Given the description of an element on the screen output the (x, y) to click on. 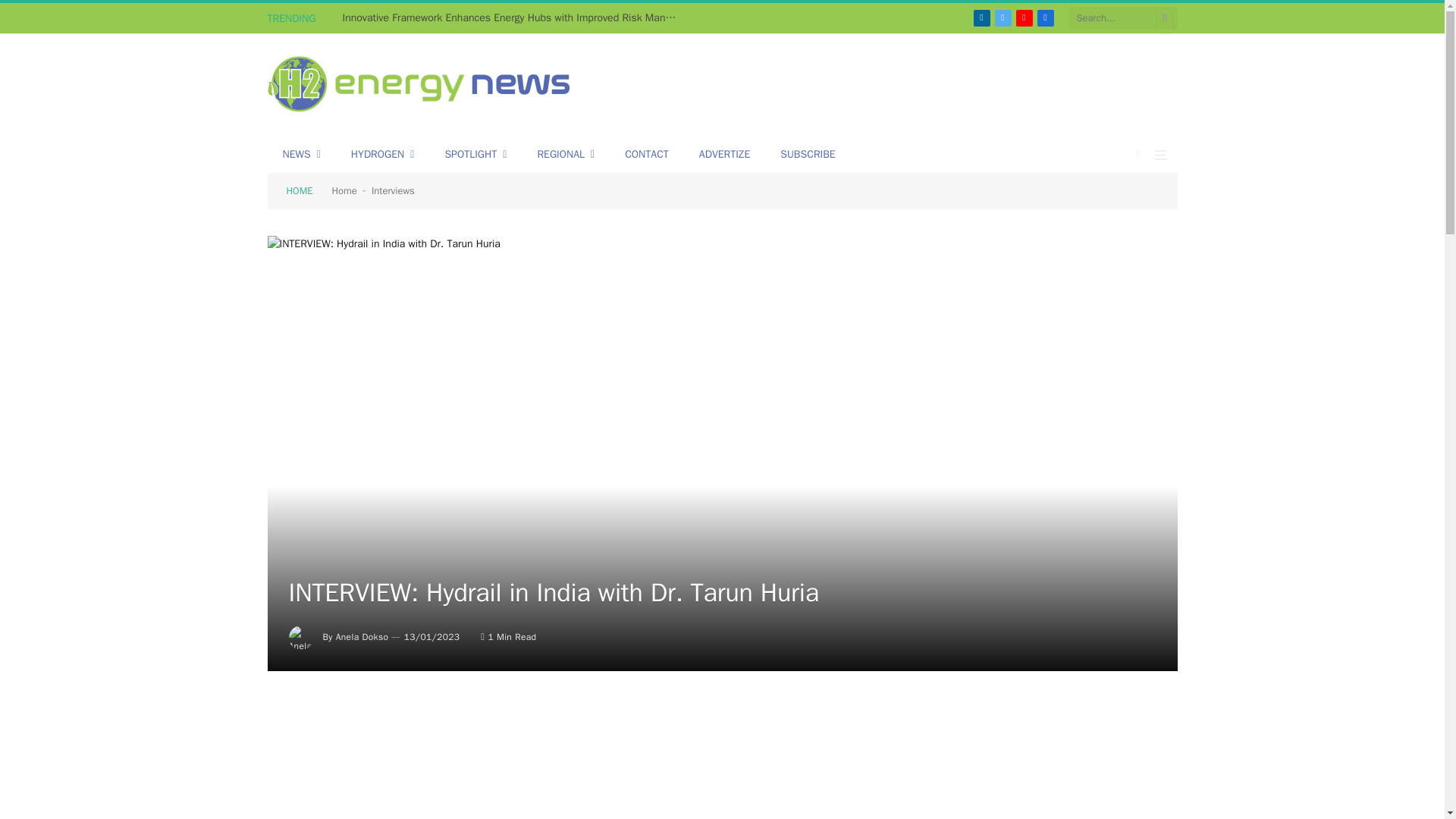
YouTube (1024, 17)
Facebook (1045, 17)
Posts by Anela Dokso (362, 636)
Green Hydrogen News (418, 85)
HYDROGEN (382, 154)
Switch to Dark Design - easier on eyes. (1138, 154)
NEWS (300, 154)
LinkedIn (982, 17)
